Given the description of an element on the screen output the (x, y) to click on. 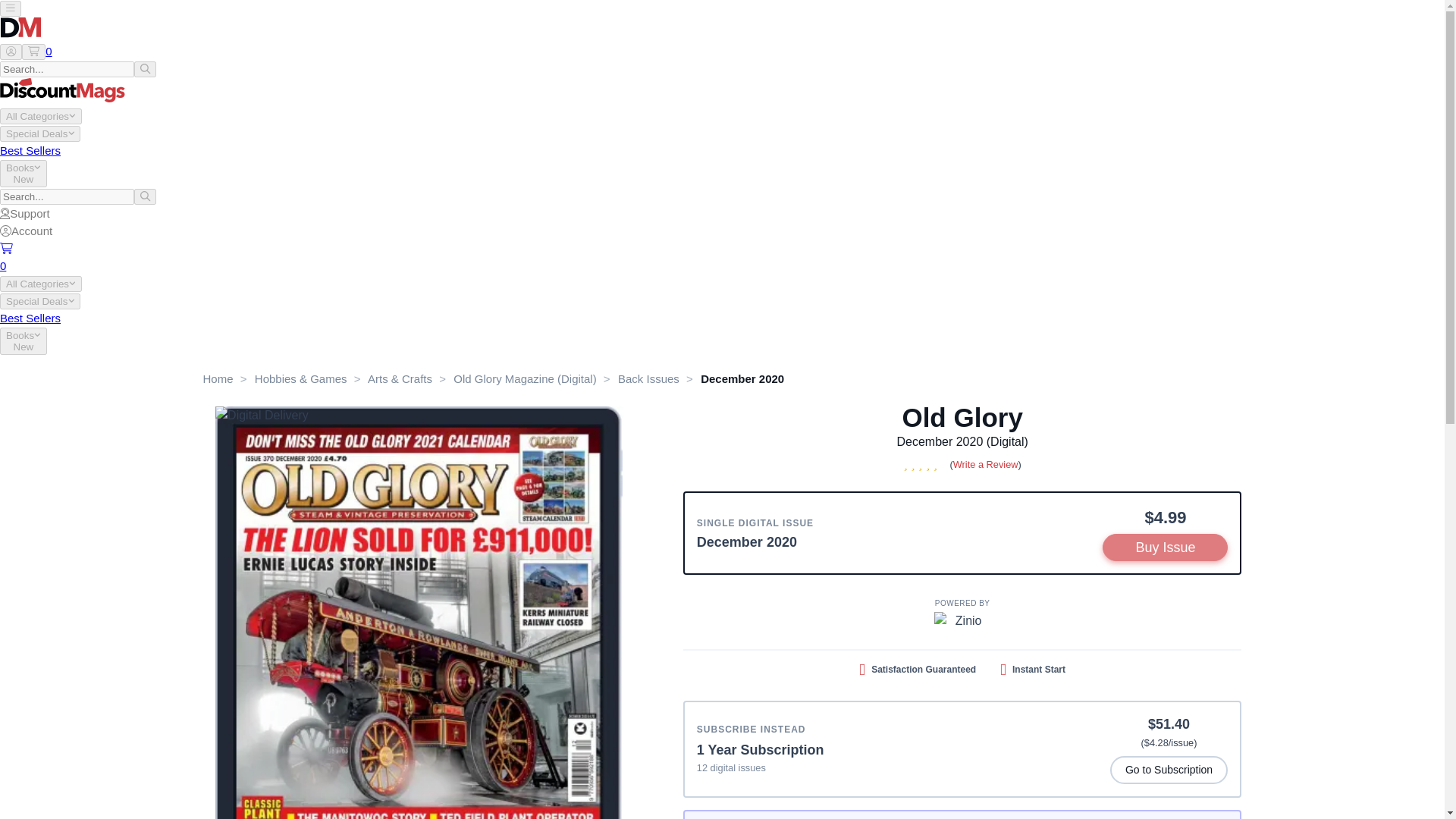
Home (217, 378)
Go to Subscription (1168, 769)
Back Issues (648, 378)
Write a Review (985, 464)
Buy Issue (1164, 547)
